Given the description of an element on the screen output the (x, y) to click on. 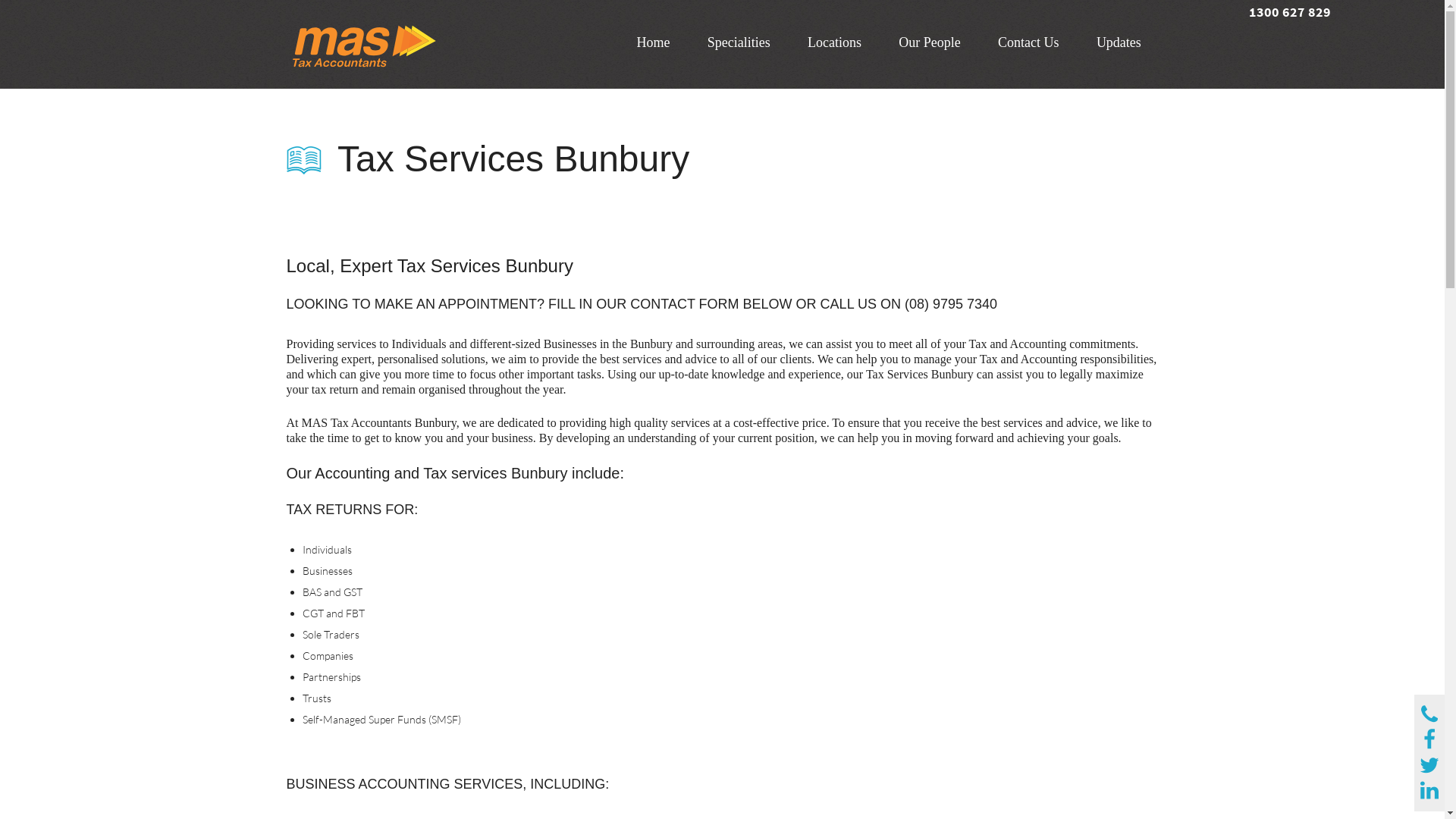
Contact Us Element type: text (1028, 42)
Specialities Element type: text (738, 42)
Our People Element type: text (929, 42)
Updates Element type: text (1118, 42)
Locations Element type: text (834, 42)
Home Element type: text (653, 42)
